Given the description of an element on the screen output the (x, y) to click on. 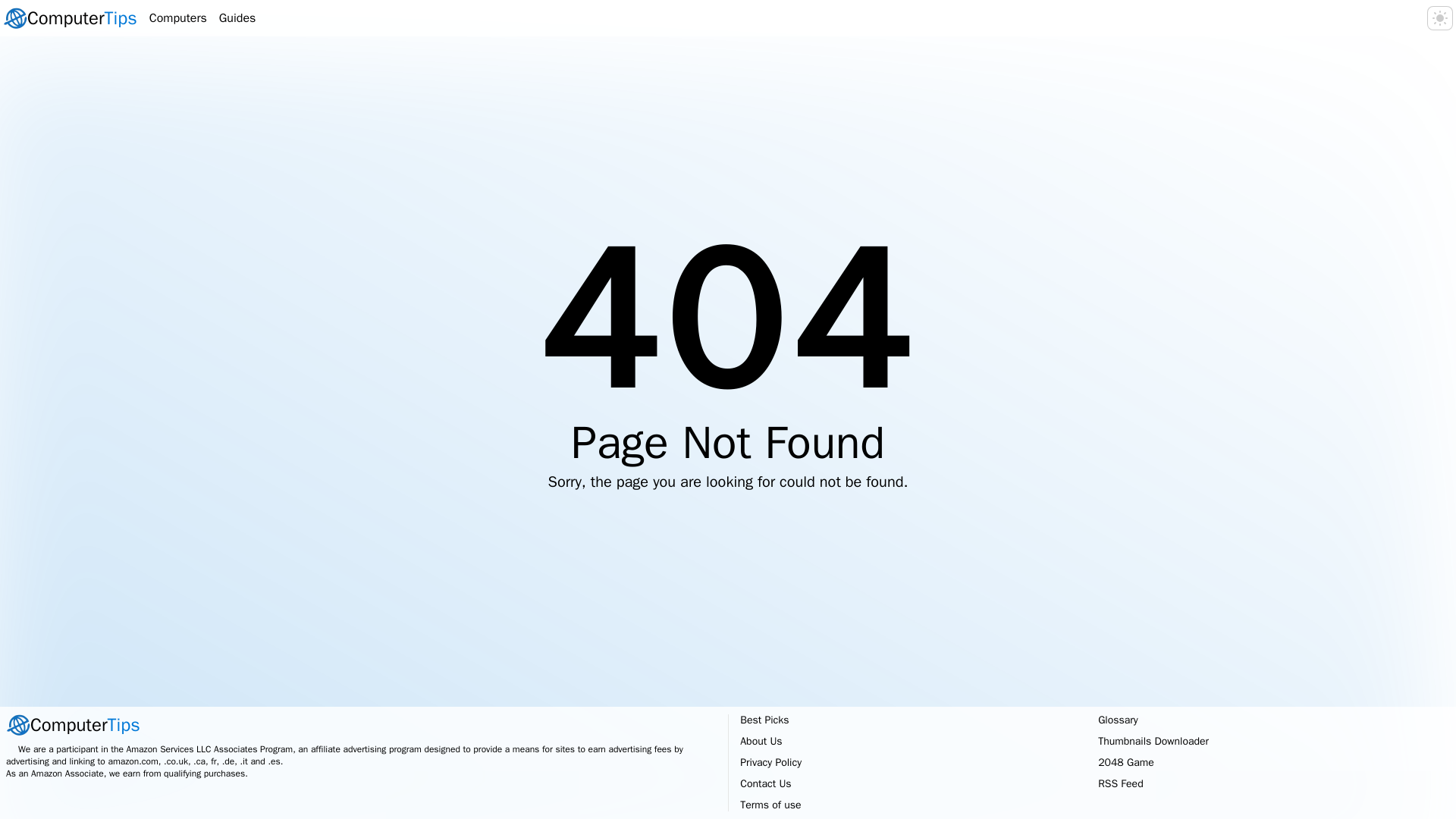
Thumbnails Downloader (1152, 740)
Privacy Policy (770, 762)
RSS Feed (1119, 783)
Best Picks (764, 719)
2048 Game (360, 724)
About Us (1125, 762)
Guides (760, 740)
Terms of use (237, 18)
